Given the description of an element on the screen output the (x, y) to click on. 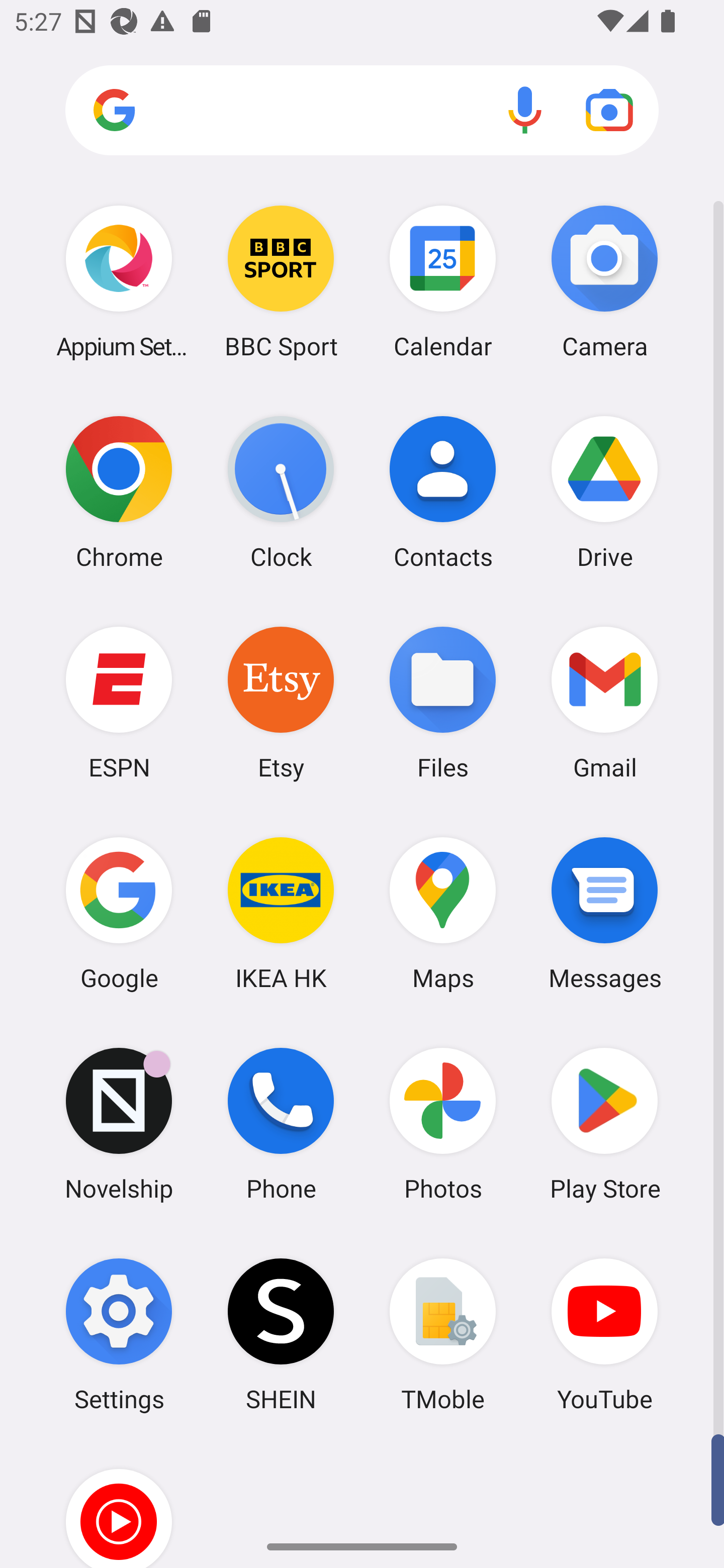
Search apps, web and more (361, 110)
Voice search (524, 109)
Google Lens (608, 109)
Appium Settings (118, 281)
BBC Sport (280, 281)
Calendar (443, 281)
Camera (604, 281)
Chrome (118, 492)
Clock (280, 492)
Contacts (443, 492)
Drive (604, 492)
ESPN (118, 702)
Etsy (280, 702)
Files (443, 702)
Gmail (604, 702)
Google (118, 913)
IKEA HK (280, 913)
Maps (443, 913)
Messages (604, 913)
Novelship Novelship has 1 notification (118, 1124)
Phone (280, 1124)
Photos (443, 1124)
Play Store (604, 1124)
Settings (118, 1334)
SHEIN (280, 1334)
TMoble (443, 1334)
YouTube (604, 1334)
YT Music (118, 1503)
